Given the description of an element on the screen output the (x, y) to click on. 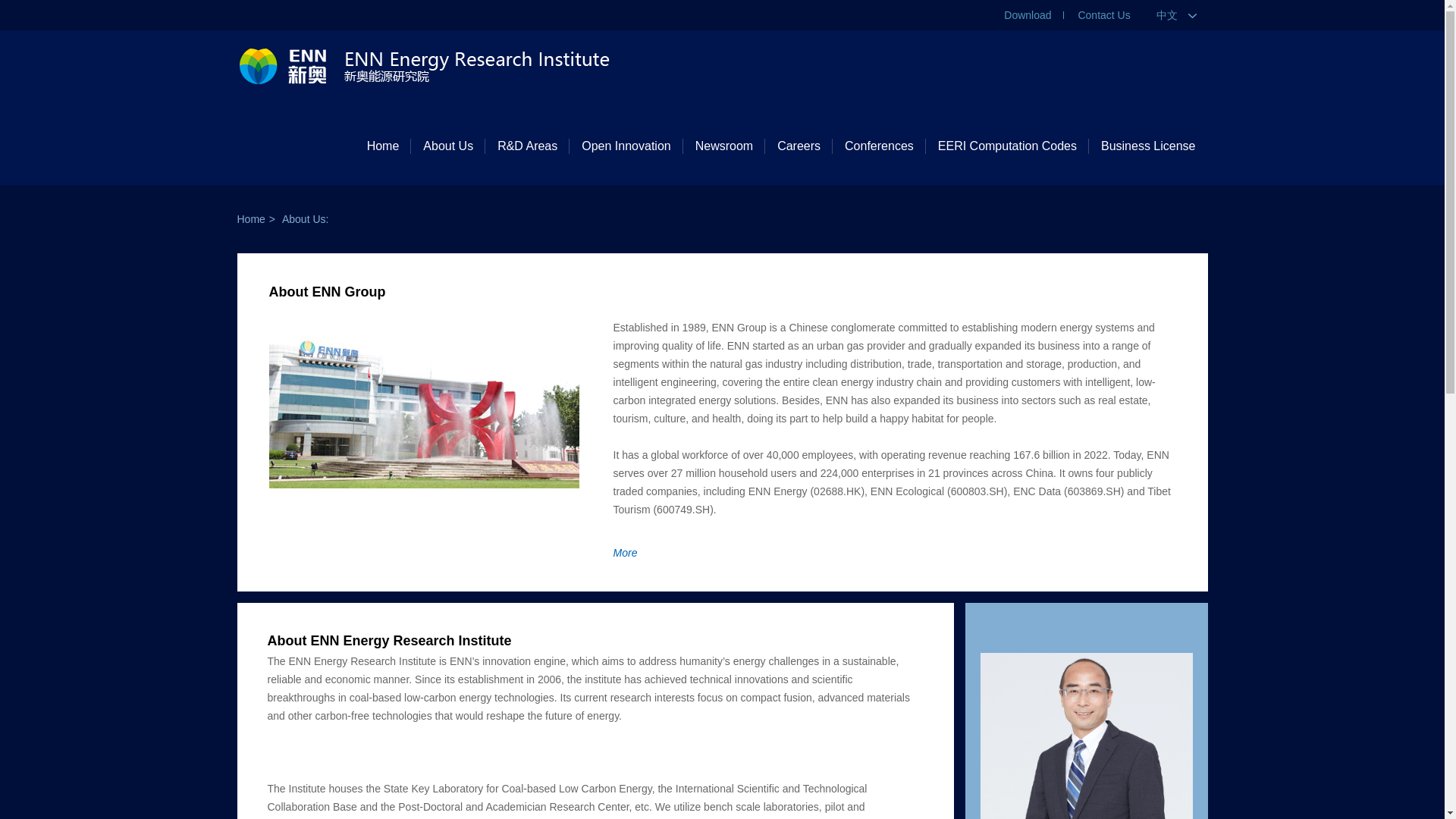
Newsroom (723, 146)
Contact Us (1103, 14)
Business License (1148, 146)
Conferences (879, 146)
About Us: (305, 219)
Open Innovation (625, 146)
Download (1027, 14)
EERI Computation Codes (1007, 146)
Home (249, 219)
About Us (447, 146)
More (624, 552)
